Given the description of an element on the screen output the (x, y) to click on. 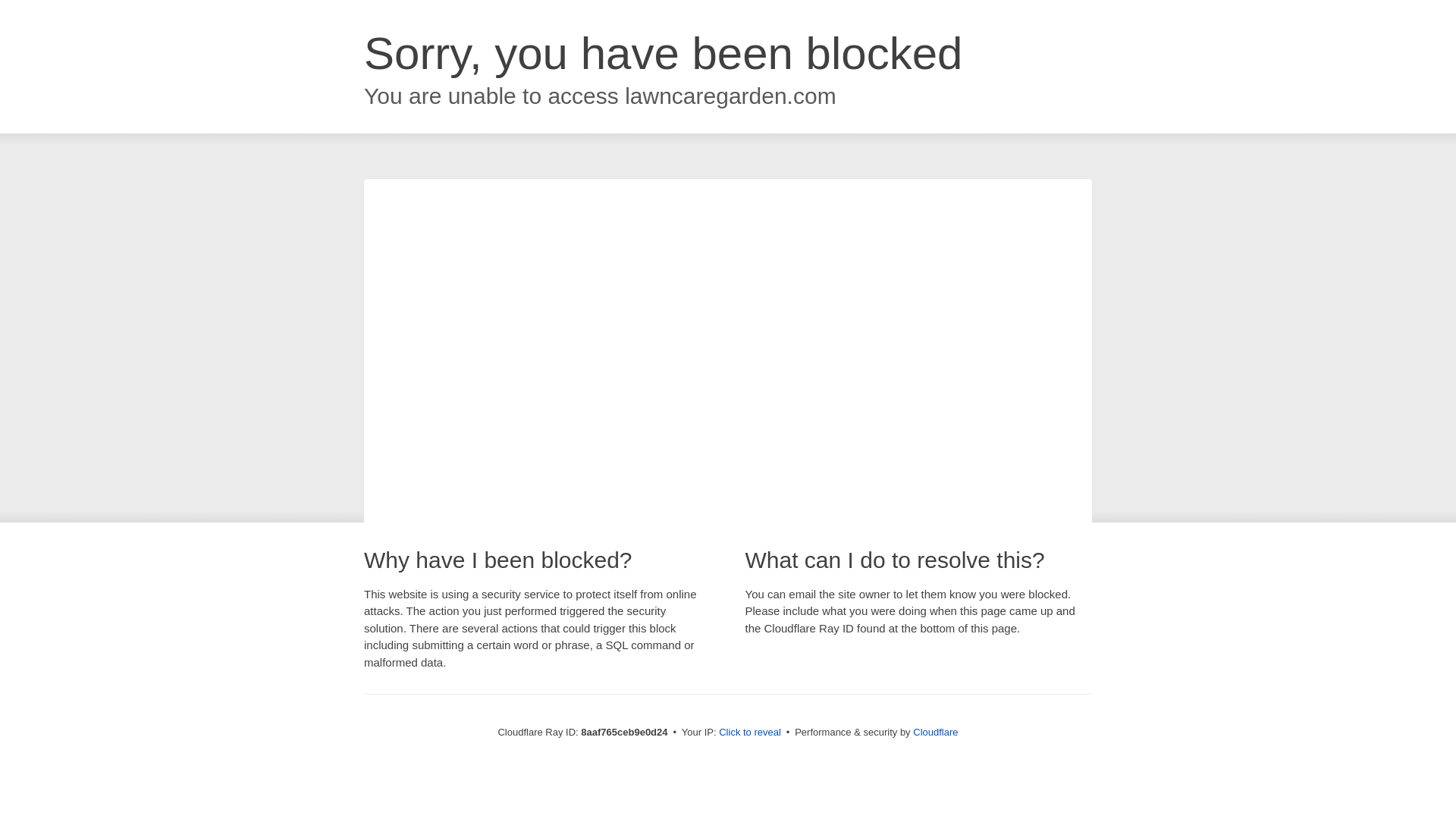
Click to reveal (749, 732)
Cloudflare (935, 731)
